Given the description of an element on the screen output the (x, y) to click on. 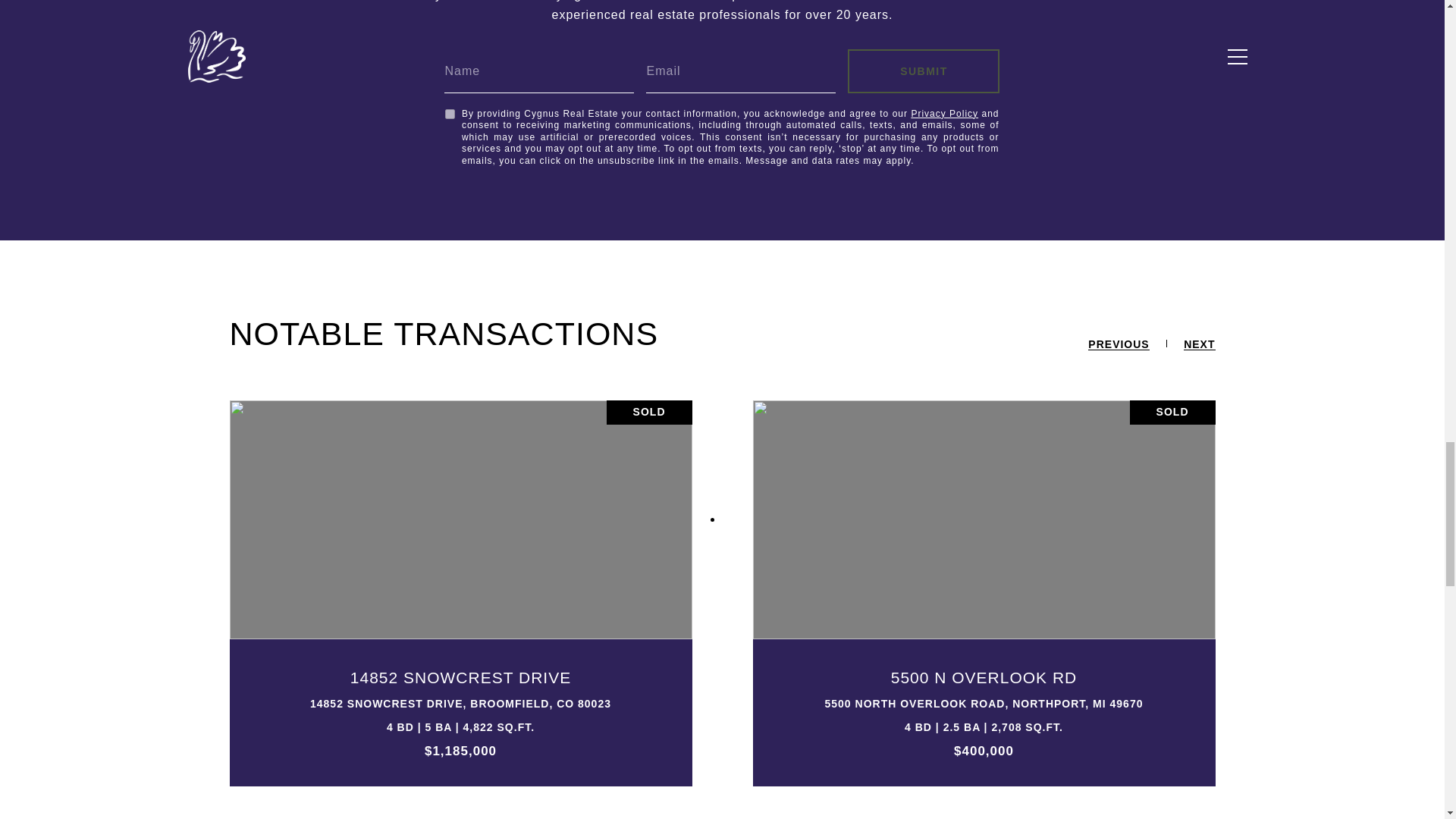
on (449, 113)
Privacy Policy (944, 113)
SUBMIT (922, 71)
